Given the description of an element on the screen output the (x, y) to click on. 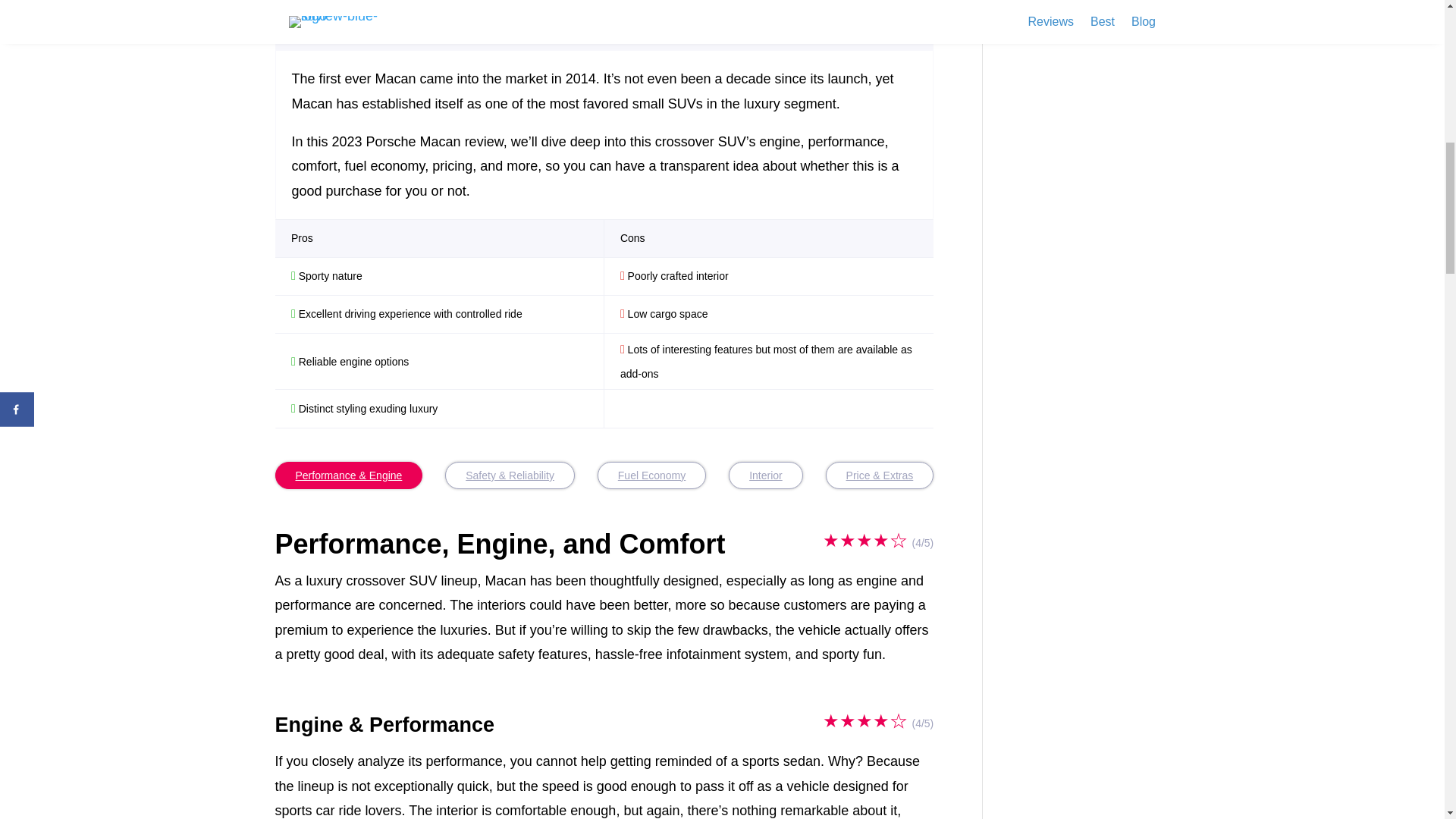
Posts by SUViews Editor (328, 9)
Interior (766, 474)
Fuel Economy (651, 474)
SUVIEWS EDITOR (328, 9)
